Given the description of an element on the screen output the (x, y) to click on. 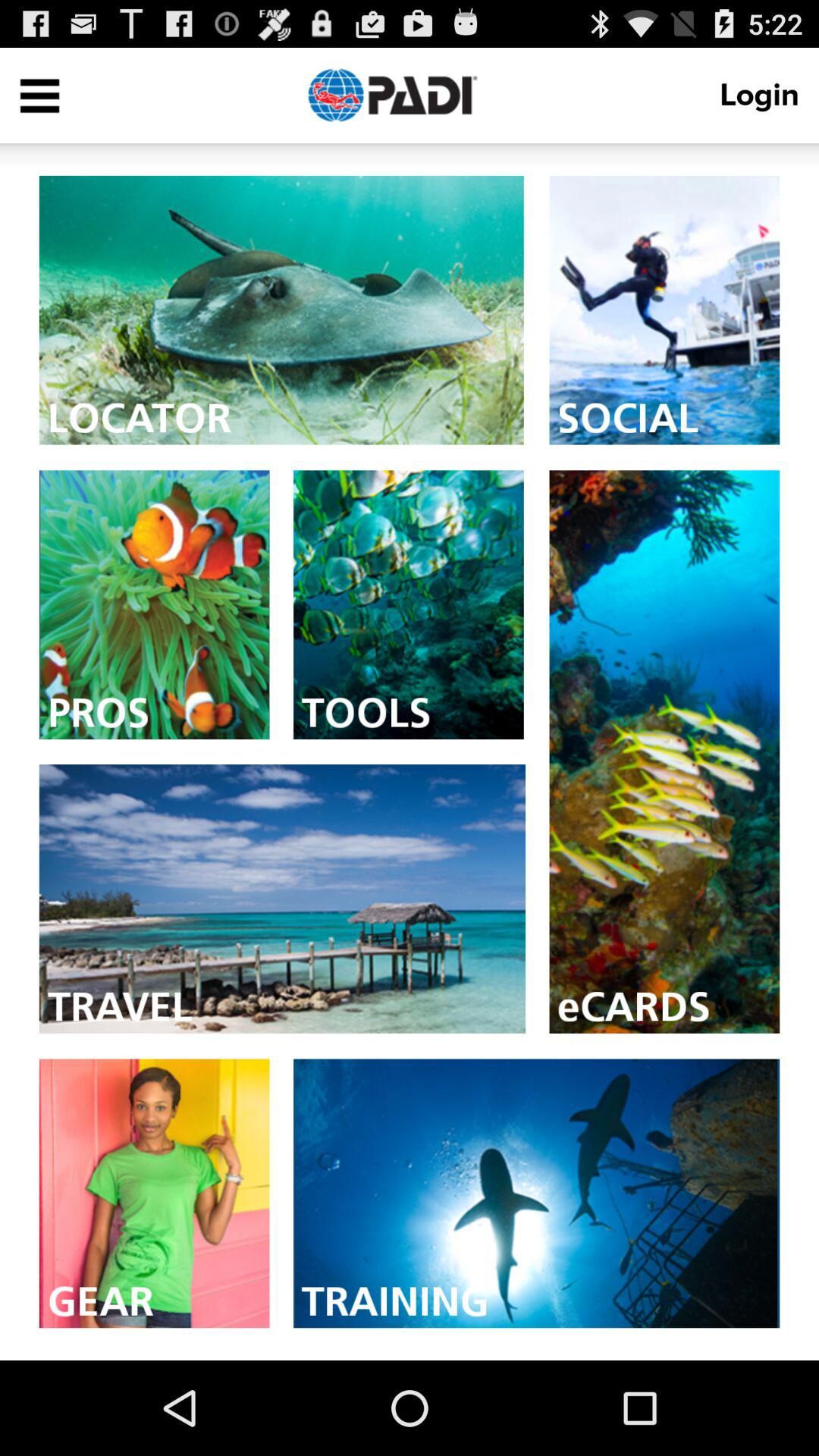
turn on item at the top left corner (39, 95)
